Given the description of an element on the screen output the (x, y) to click on. 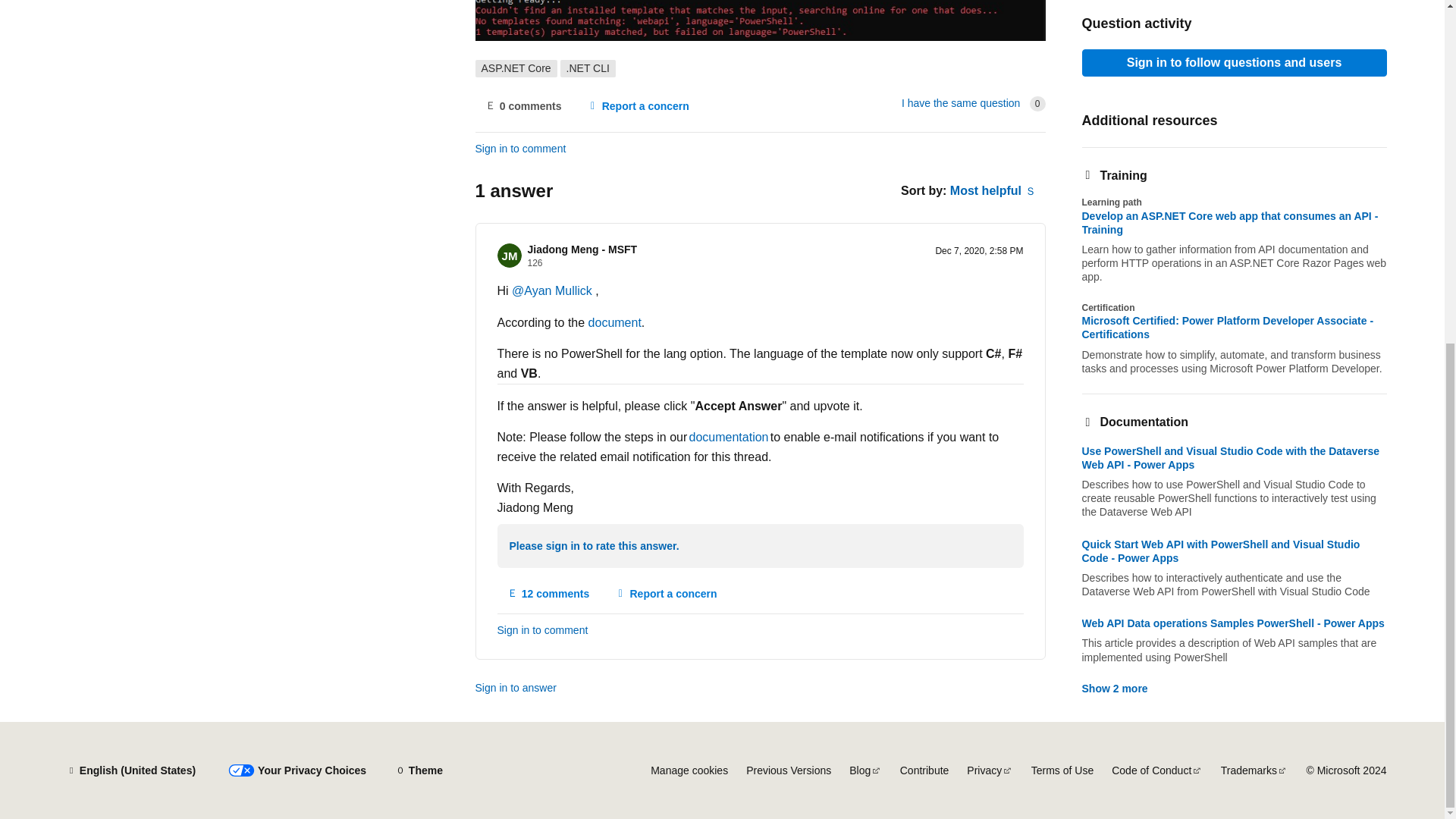
Show comments for this answer (548, 593)
Report a concern (637, 105)
You have the same or similar question (960, 102)
Reputation points (535, 262)
No comments (522, 105)
Report a concern (665, 593)
